Given the description of an element on the screen output the (x, y) to click on. 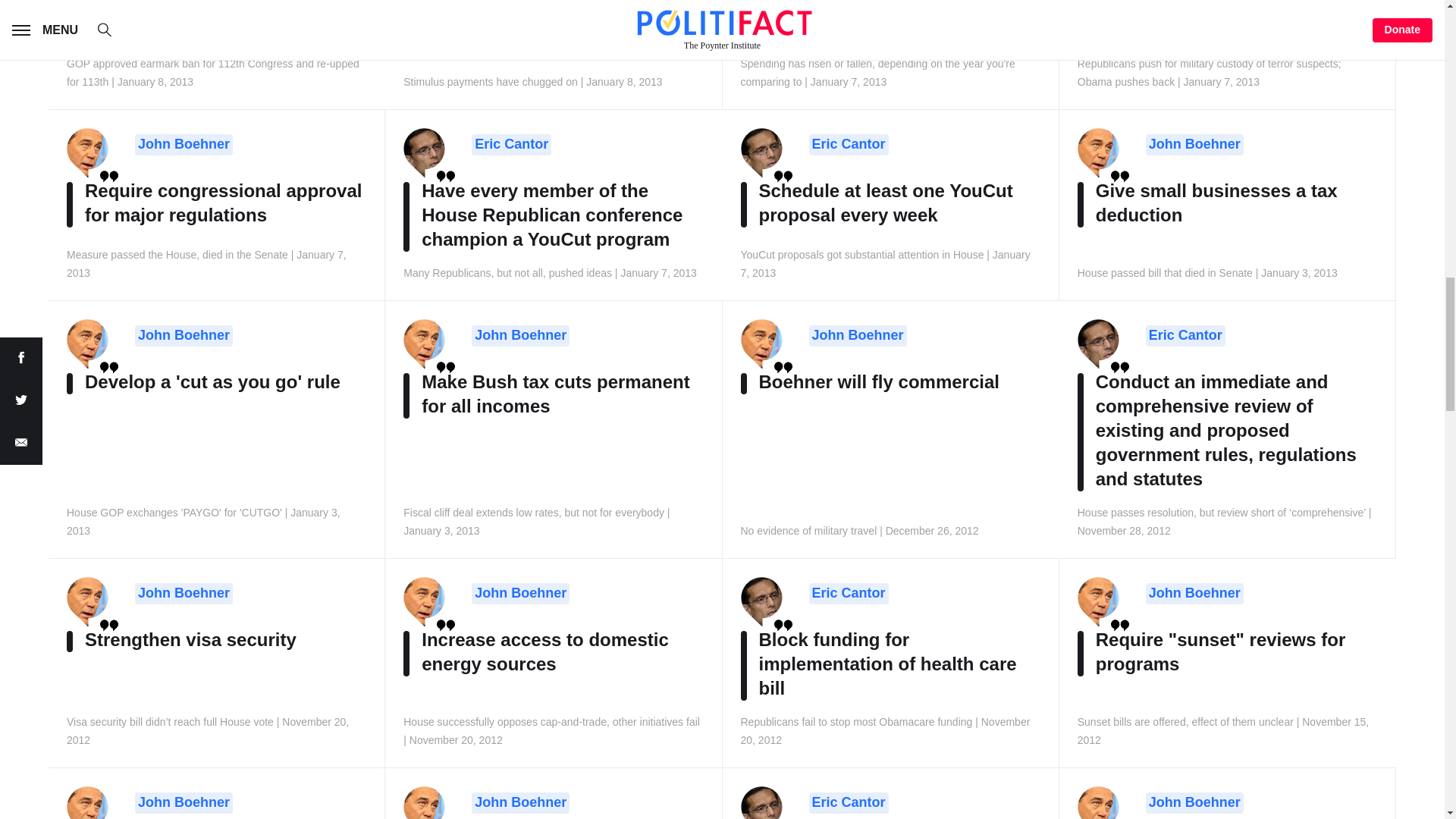
Fiscal cliff deal extends low rates, but not for everybody (520, 335)
House GOP exchanges 'PAYGO' for 'CUTGO' (183, 335)
Many Republicans, but not all, pushed ideas (511, 144)
YouCut proposals got substantial attention in House (848, 144)
House passed bill that died in Senate (1194, 144)
Measure passed the House, died in the Senate (183, 144)
